Given the description of an element on the screen output the (x, y) to click on. 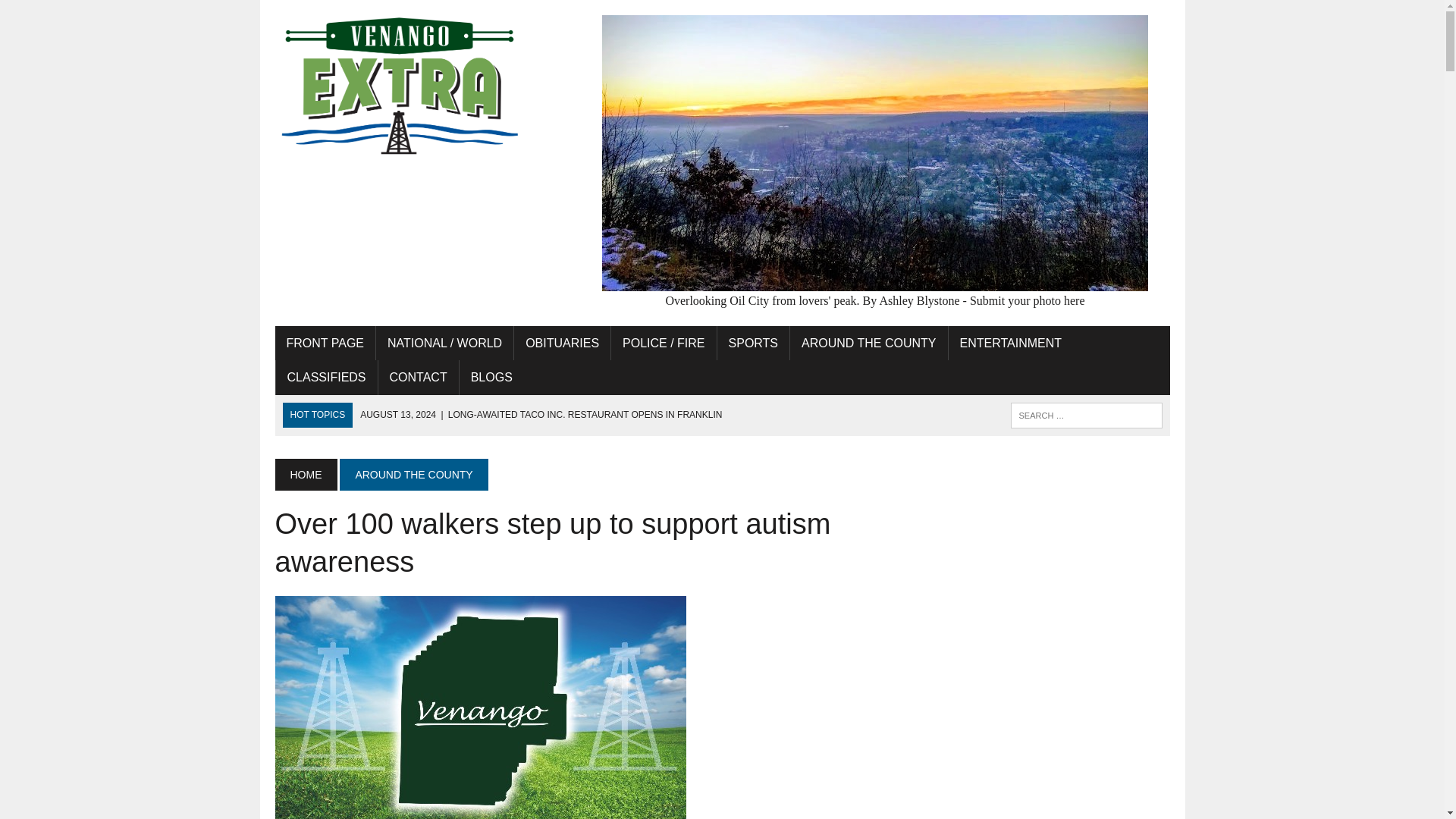
CONTACT (418, 377)
SPORTS (753, 343)
CLASSIFIEDS (326, 377)
OBITUARIES (561, 343)
AROUND THE COUNTY (868, 343)
BLOGS (492, 377)
ENTERTAINMENT (1011, 343)
AROUND THE COUNTY (413, 474)
Search (75, 14)
FRONT PAGE (325, 343)
